Given the description of an element on the screen output the (x, y) to click on. 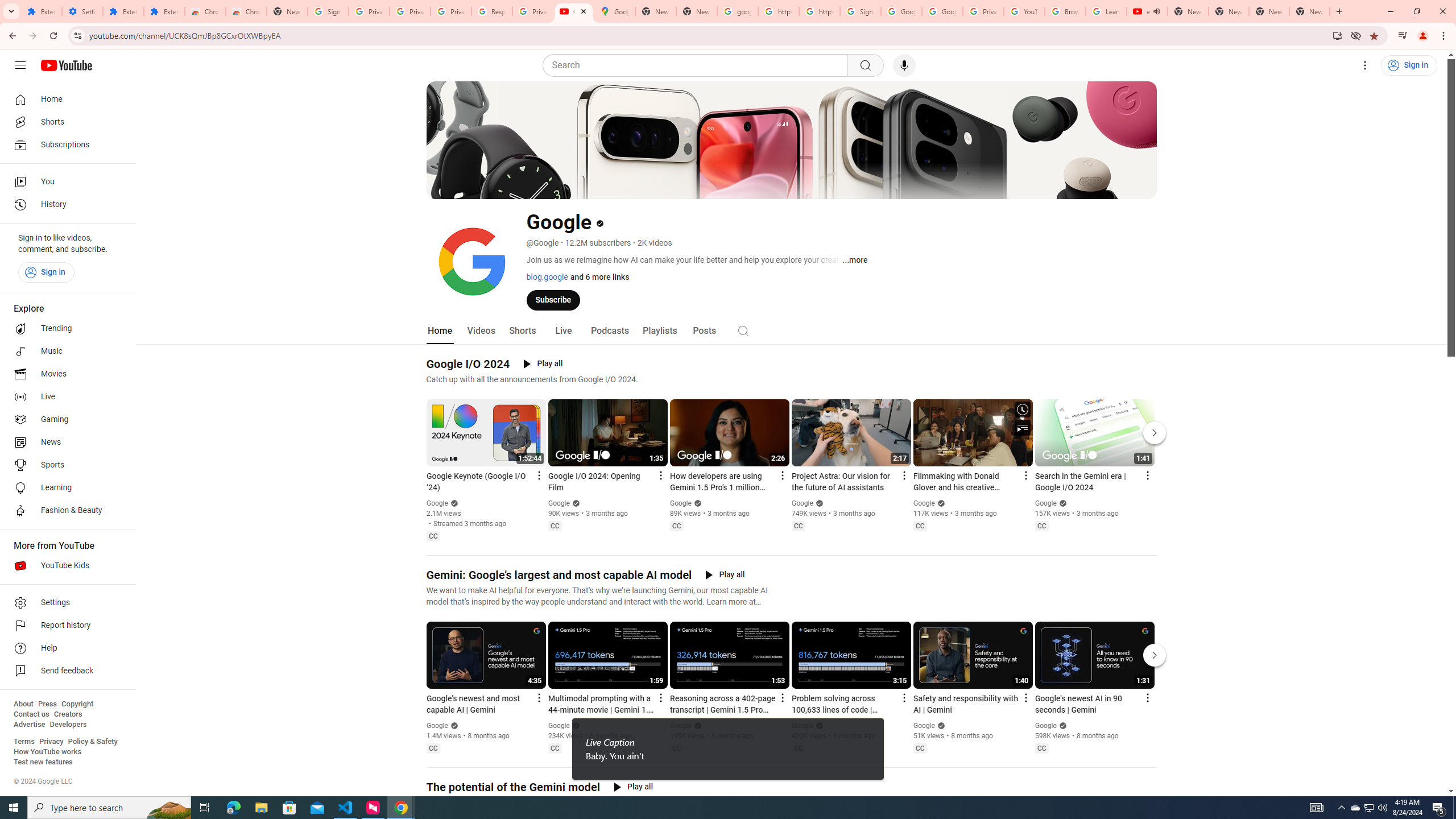
YouTube Home (66, 65)
Gaming (64, 419)
Verified (1061, 725)
How YouTube works (47, 751)
New Tab (1309, 11)
Shorts (64, 121)
https://scholar.google.com/ (818, 11)
Posts (703, 330)
